Given the description of an element on the screen output the (x, y) to click on. 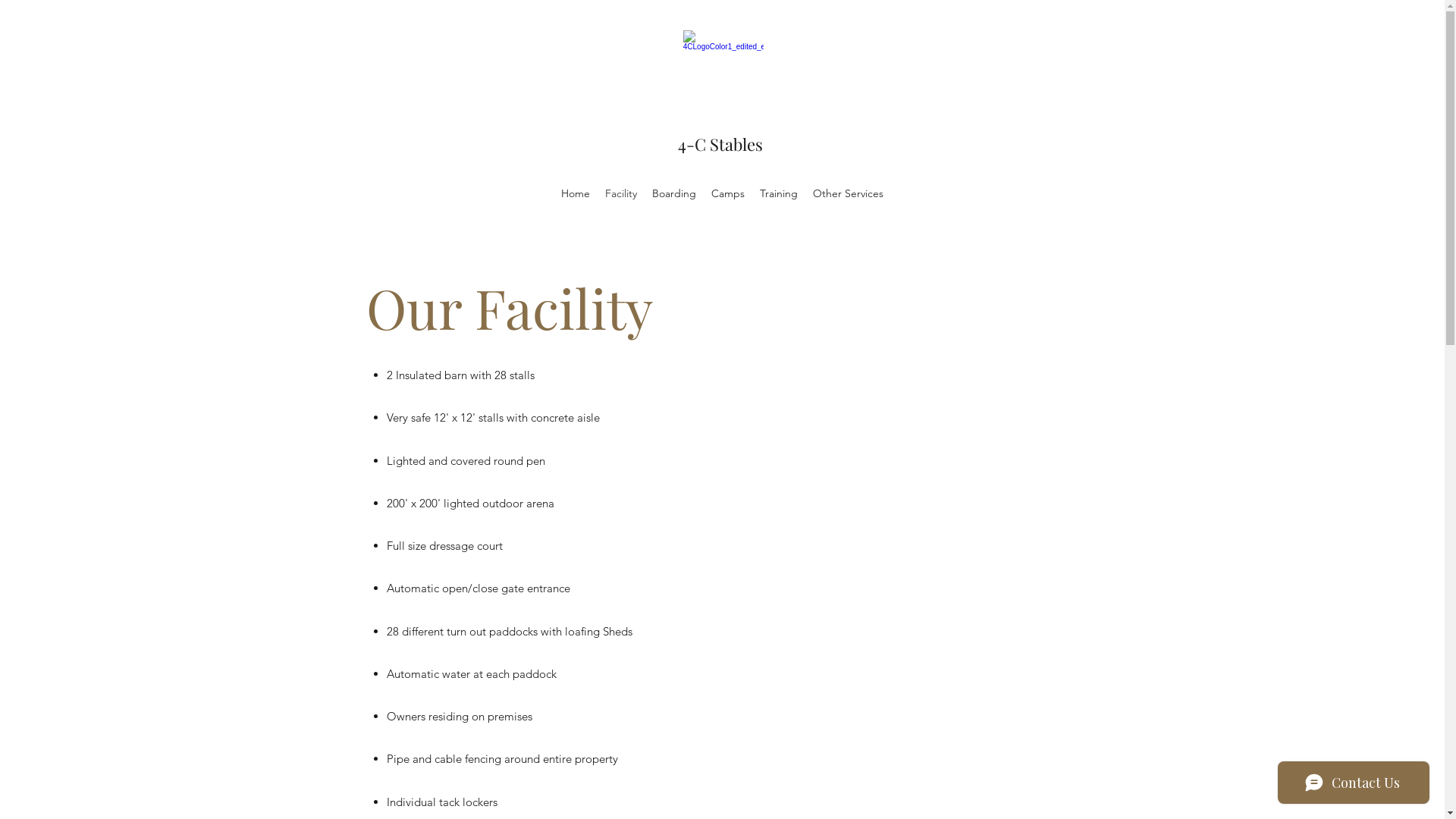
Other Services Element type: text (848, 193)
Facility Element type: text (620, 193)
Camps Element type: text (727, 193)
Home Element type: text (575, 193)
Training Element type: text (778, 193)
Boarding Element type: text (673, 193)
